Given the description of an element on the screen output the (x, y) to click on. 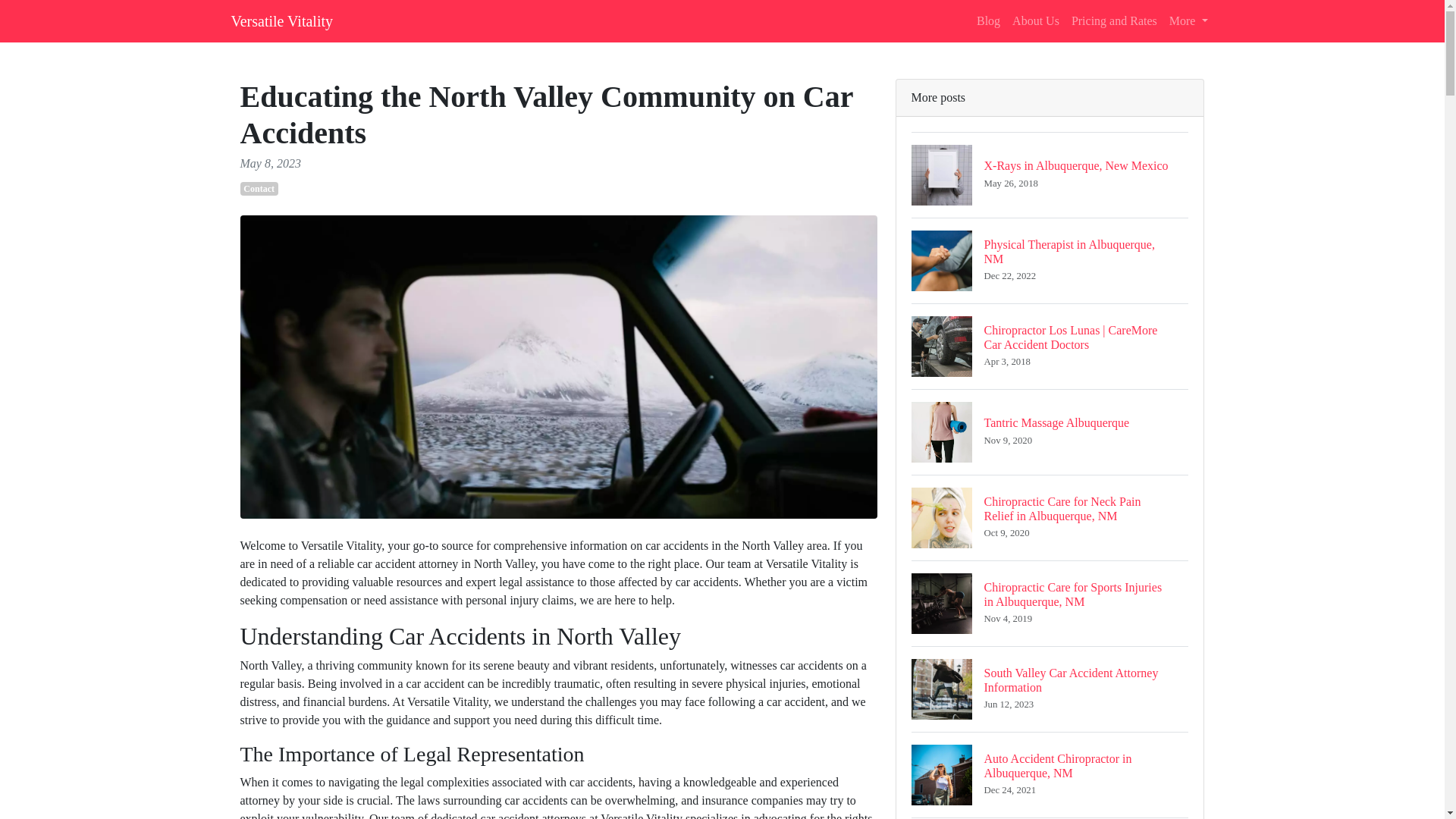
Versatile Vitality (1050, 689)
Blog (281, 20)
Pricing and Rates (1050, 432)
About Us (988, 20)
More (1114, 20)
